Given the description of an element on the screen output the (x, y) to click on. 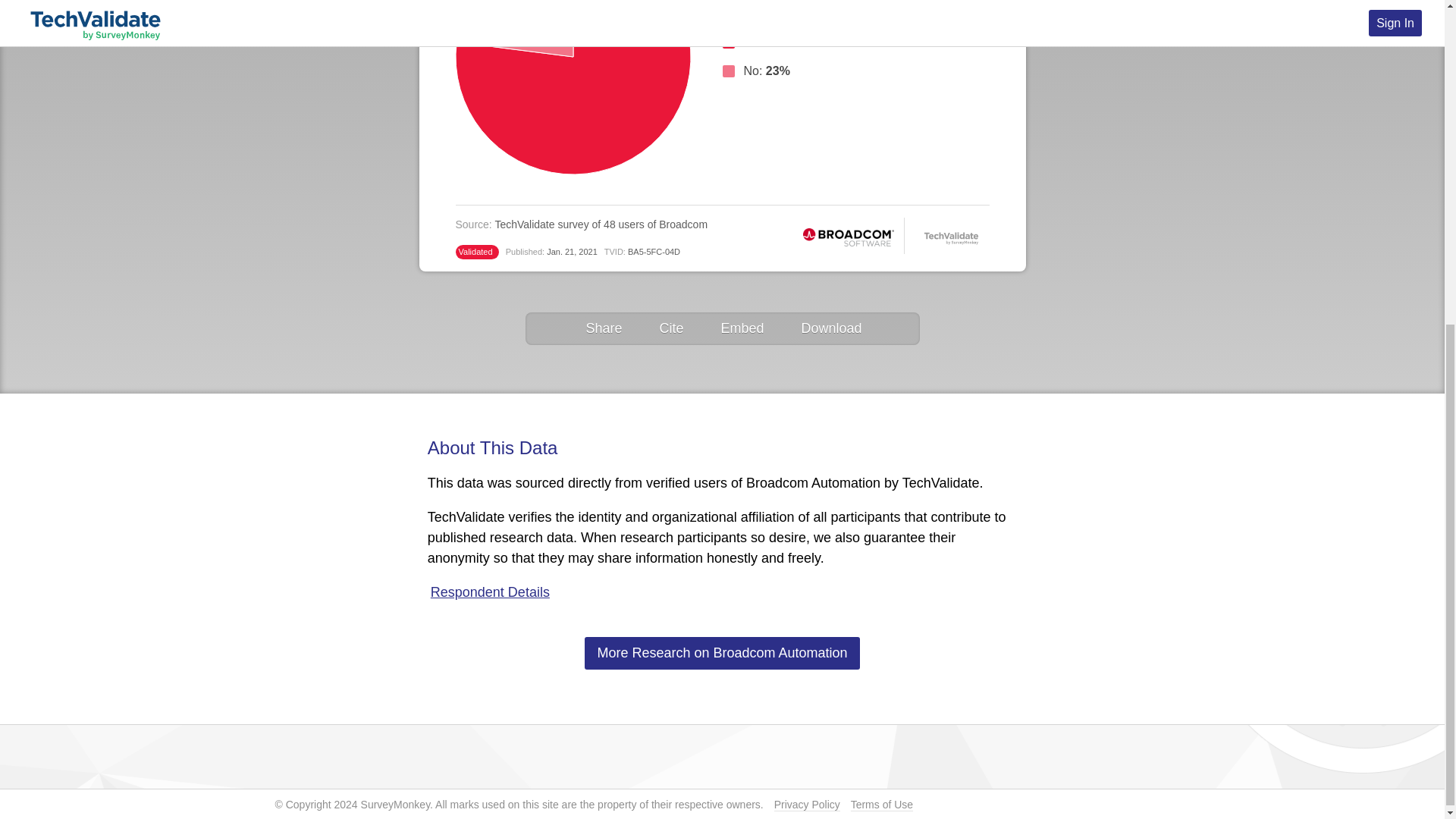
Embed (739, 328)
Cite (669, 328)
BA5-5FC-04D (653, 251)
Respondent Details (489, 591)
Terms of Use (881, 804)
Research by TechValidate (951, 237)
Download (829, 328)
Share (601, 328)
Privacy Policy (807, 804)
More Research on Broadcom Automation (722, 653)
